Given the description of an element on the screen output the (x, y) to click on. 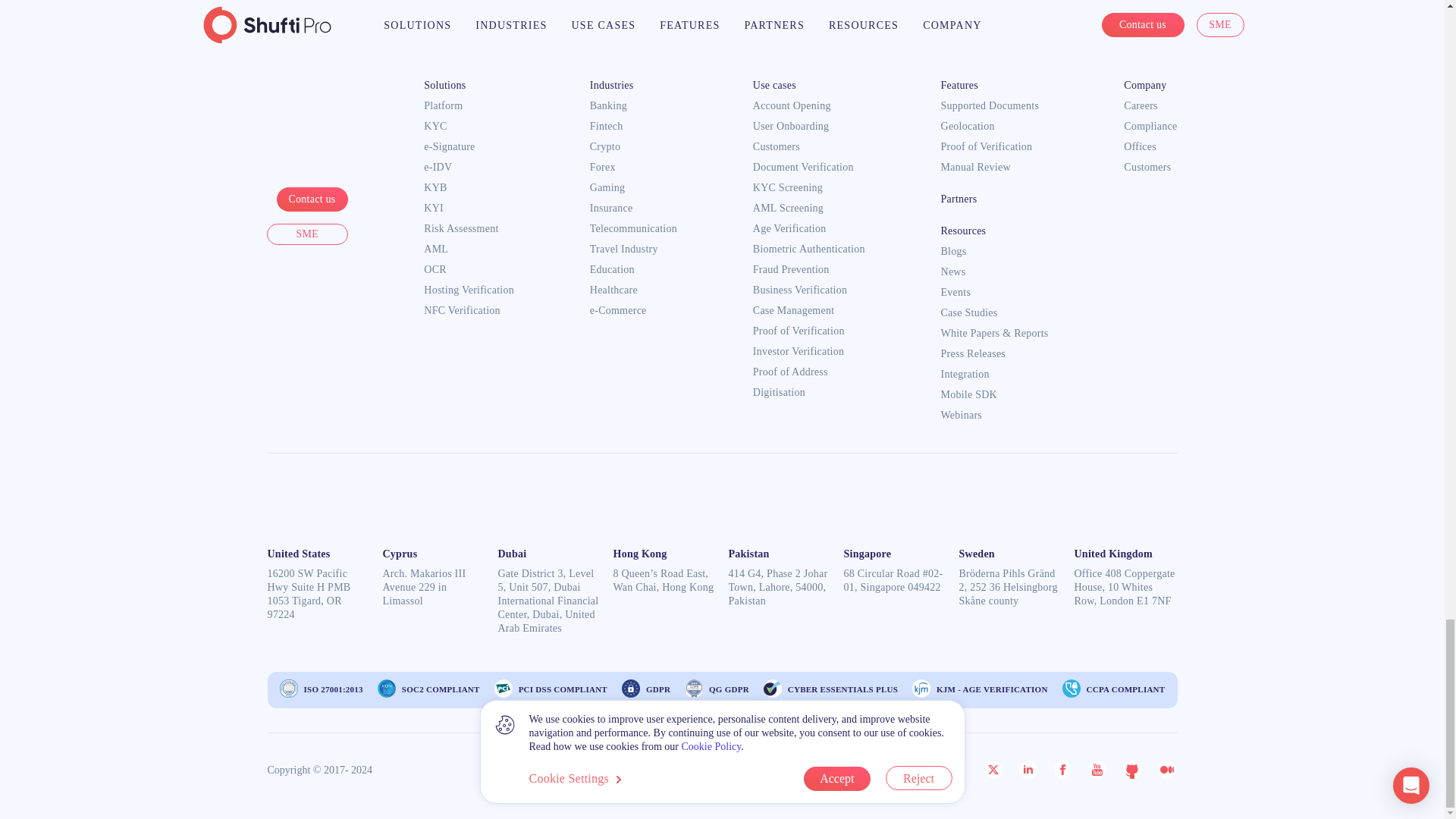
Subscribe (1108, 15)
